Given the description of an element on the screen output the (x, y) to click on. 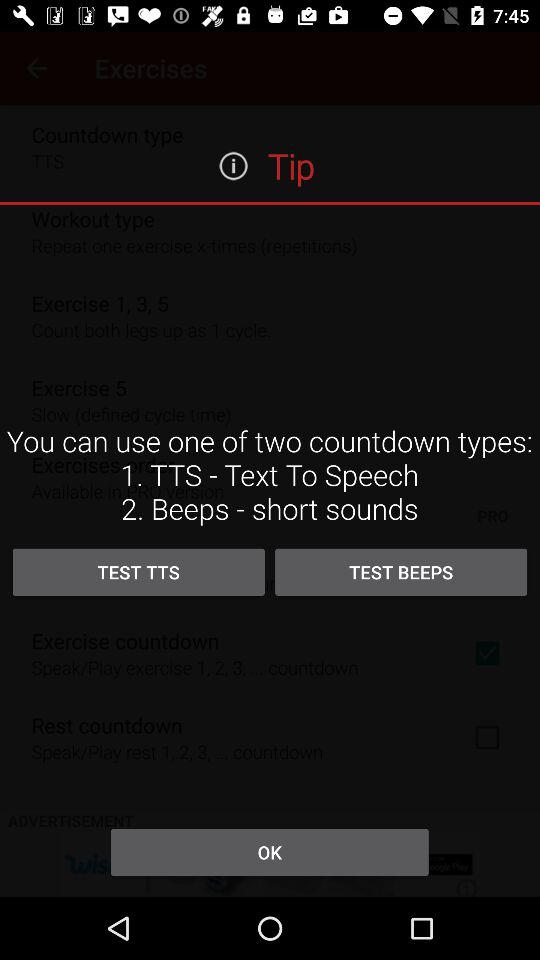
launch the item next to test beeps icon (138, 571)
